Given the description of an element on the screen output the (x, y) to click on. 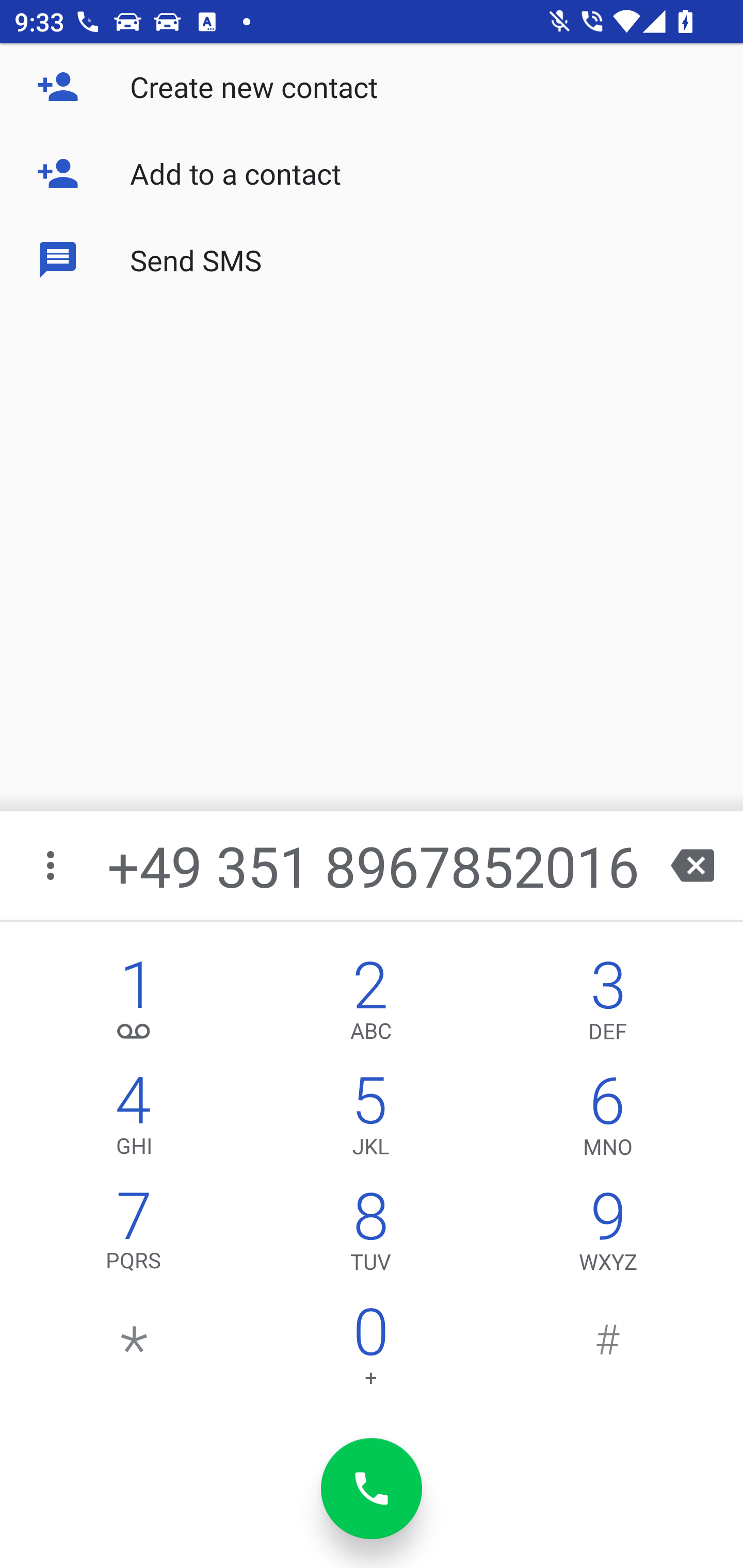
Create new contact (371, 86)
Add to a contact (371, 173)
Send SMS (371, 259)
+49 351 8967852016 (372, 865)
backspace (692, 865)
More options (52, 865)
1, 1 (133, 1005)
2,ABC 2 ABC (370, 1005)
3,DEF 3 DEF (607, 1005)
4,GHI 4 GHI (133, 1120)
5,JKL 5 JKL (370, 1120)
6,MNO 6 MNO (607, 1120)
7,PQRS 7 PQRS (133, 1235)
8,TUV 8 TUV (370, 1235)
9,WXYZ 9 WXYZ (607, 1235)
* (133, 1351)
0 0 + (370, 1351)
# (607, 1351)
dial (371, 1488)
